Given the description of an element on the screen output the (x, y) to click on. 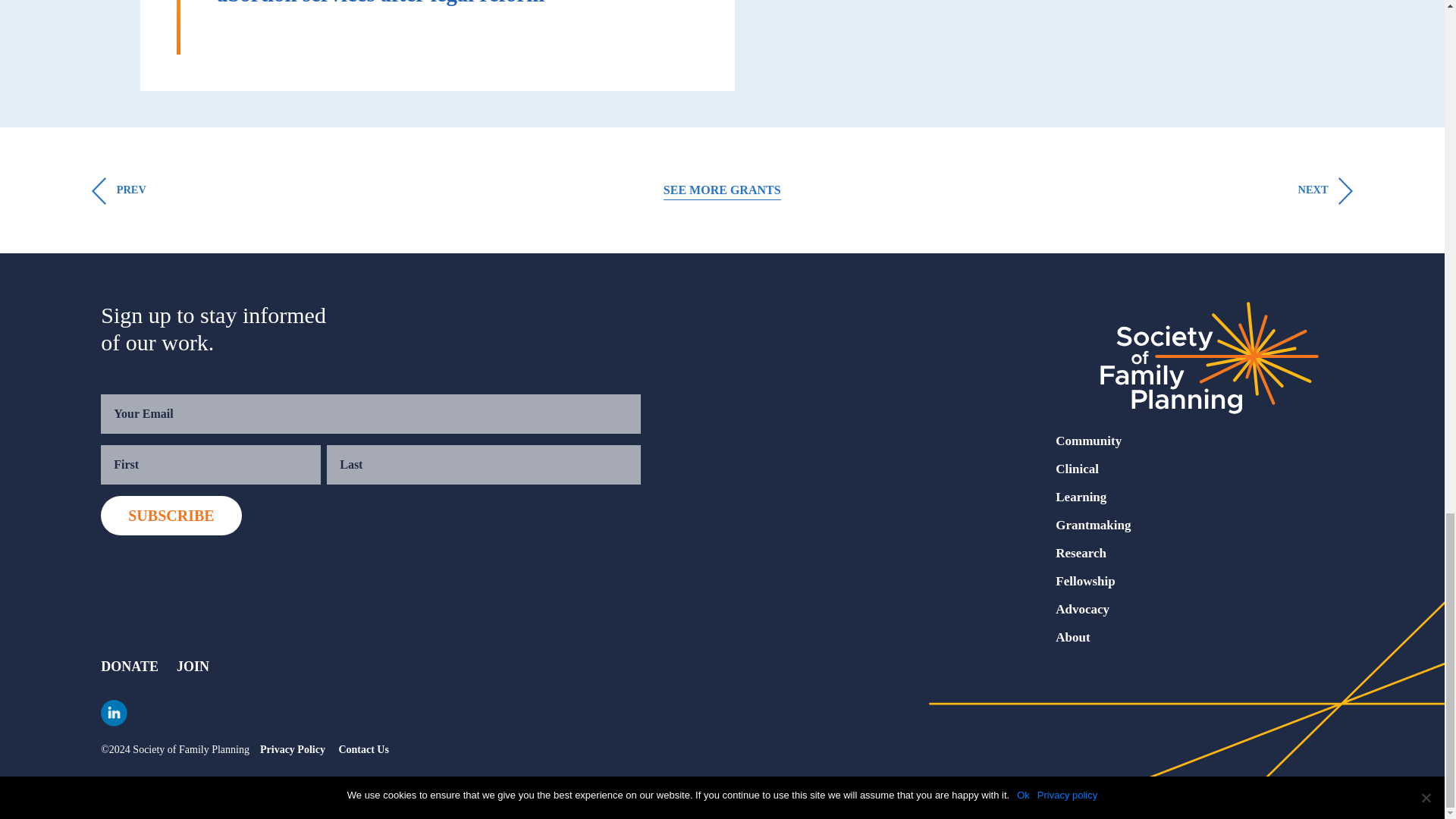
Subscribe (170, 515)
